Given the description of an element on the screen output the (x, y) to click on. 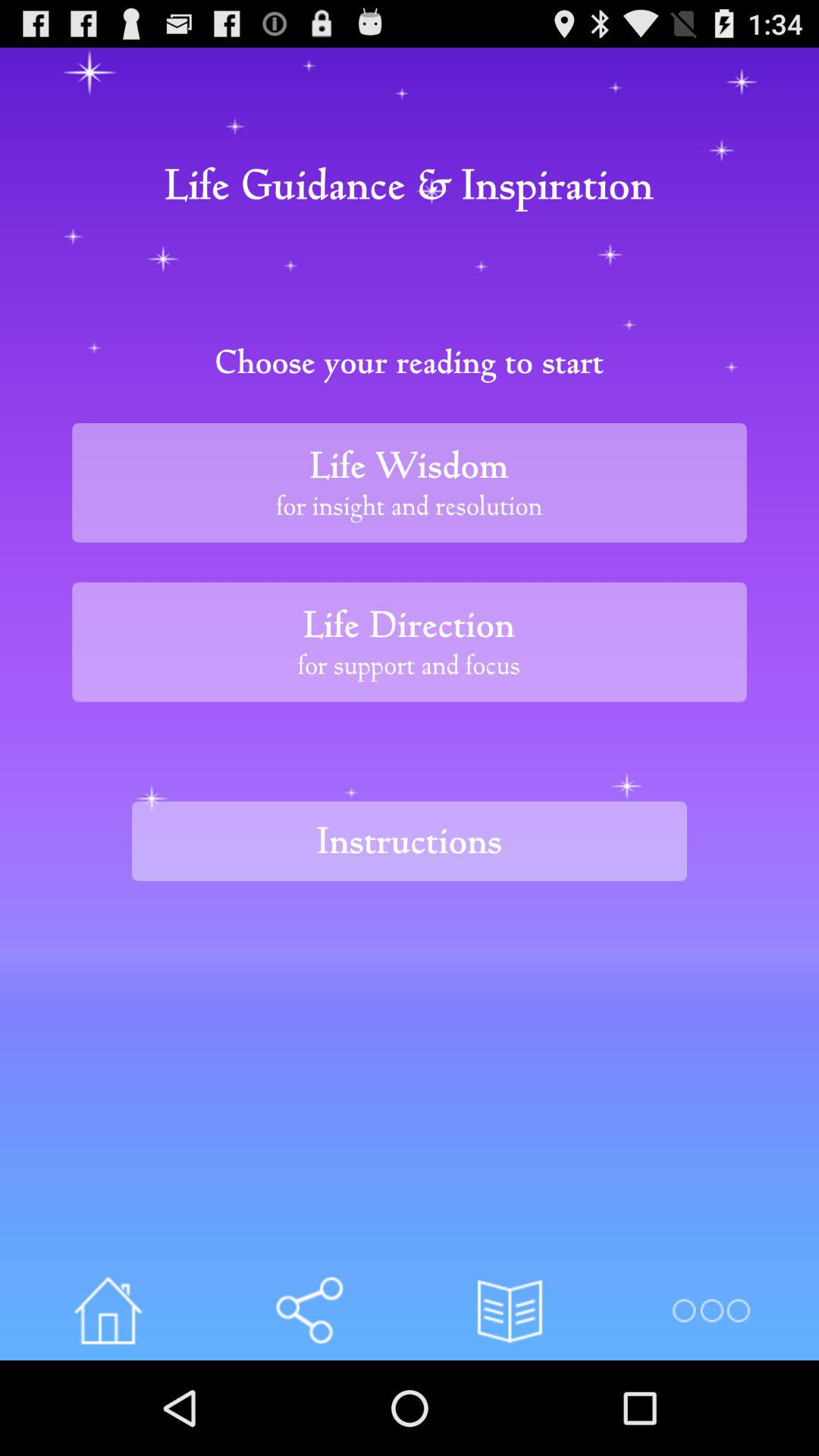
turn off the button below instructions button (308, 1310)
